Given the description of an element on the screen output the (x, y) to click on. 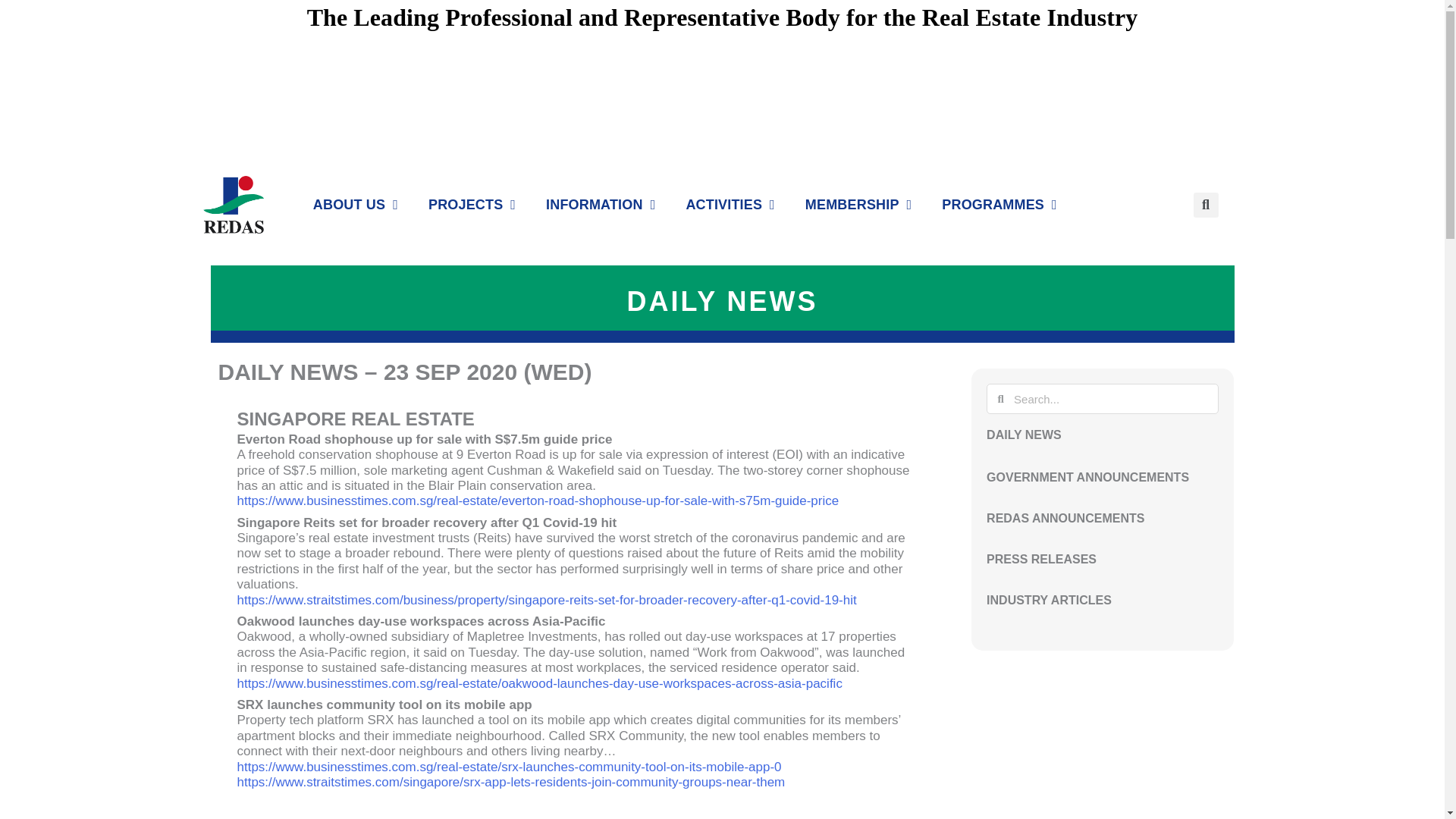
PROGRAMMES (999, 204)
Search (1111, 398)
ACTIVITIES (729, 204)
MEMBERSHIP (858, 204)
INFORMATION (600, 204)
PROJECTS (471, 204)
ABOUT US (355, 204)
